Given the description of an element on the screen output the (x, y) to click on. 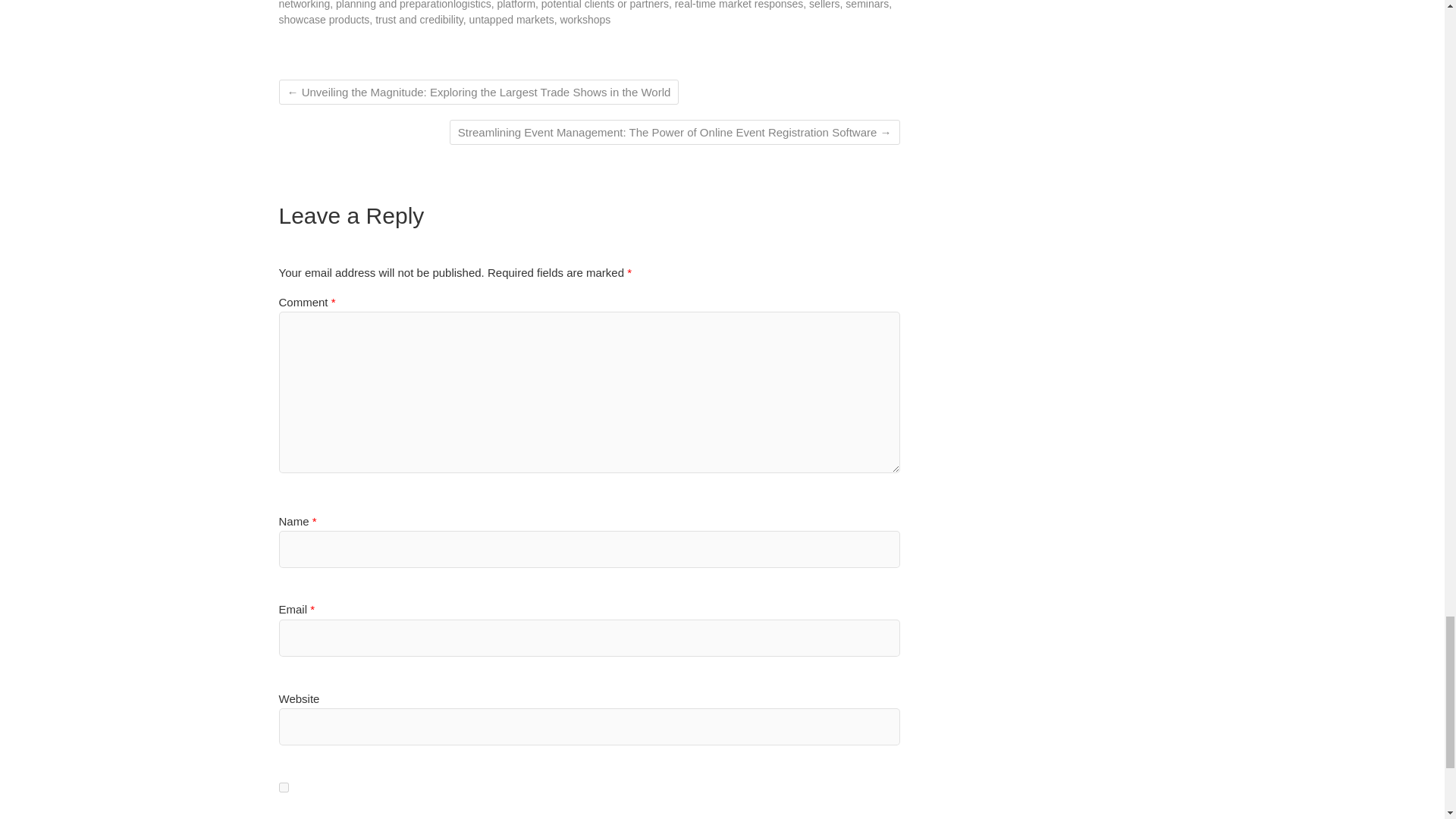
yes (283, 787)
